Given the description of an element on the screen output the (x, y) to click on. 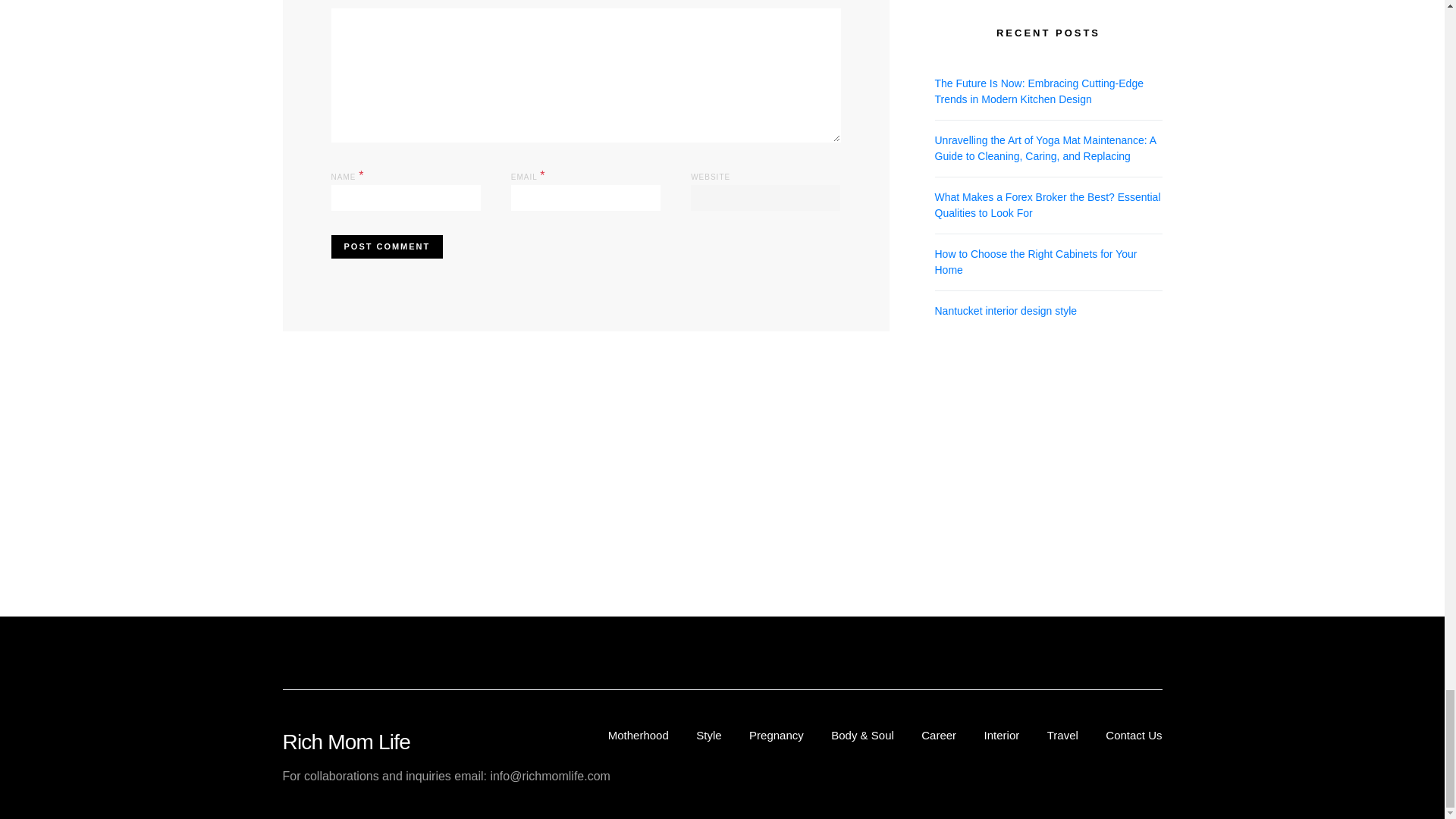
Post Comment (386, 246)
